Given the description of an element on the screen output the (x, y) to click on. 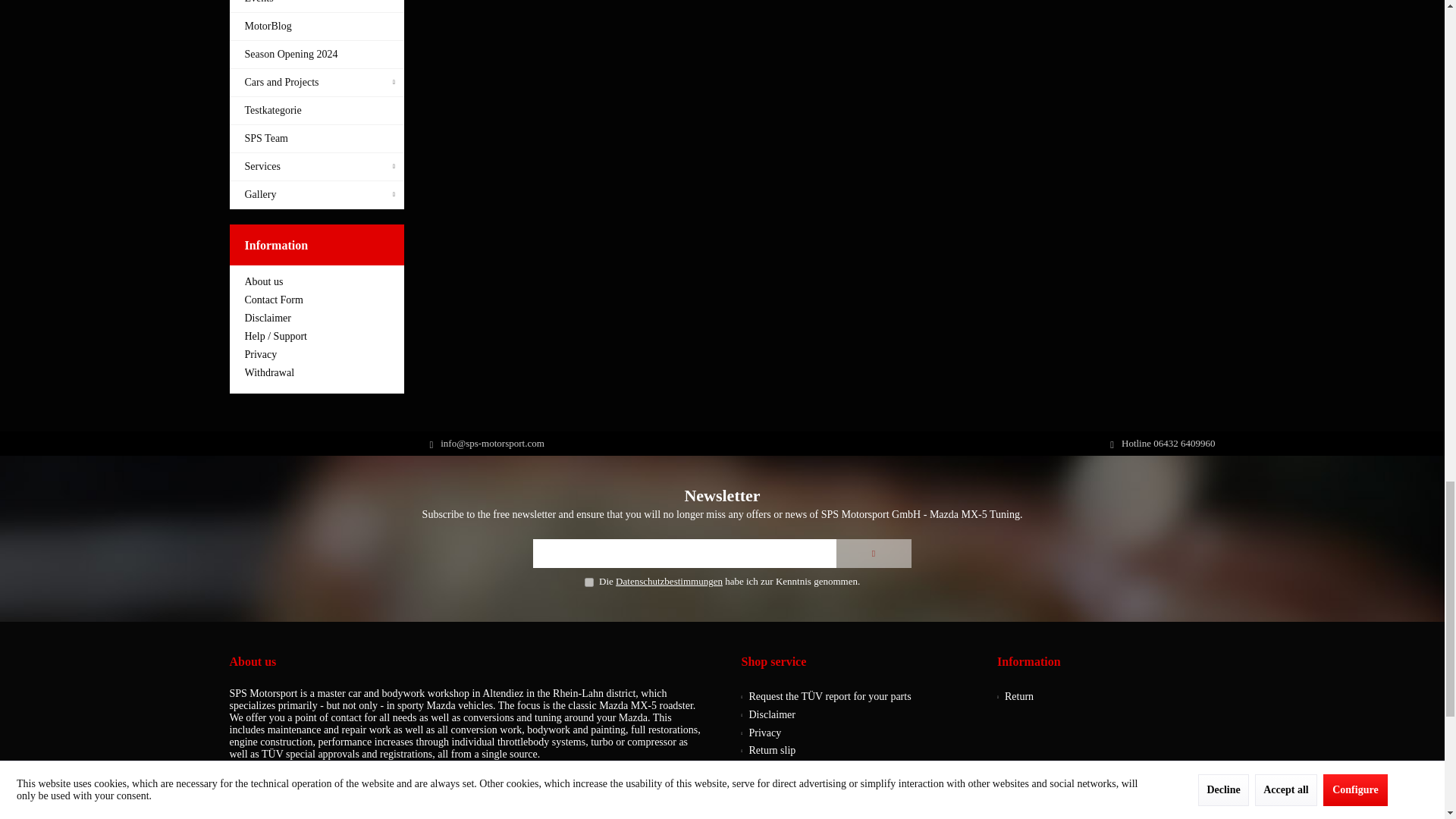
on (589, 582)
